Given the description of an element on the screen output the (x, y) to click on. 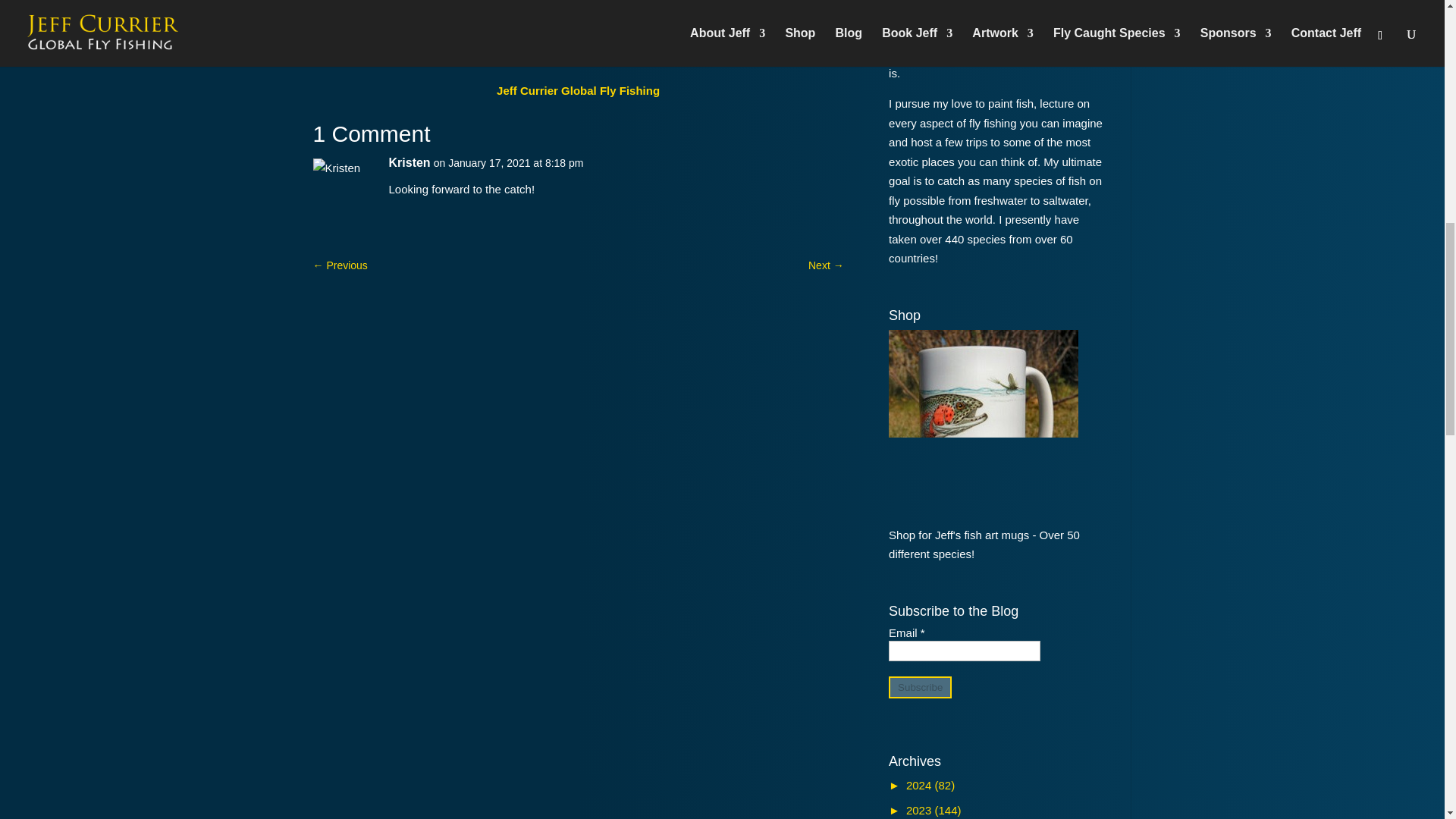
Email (964, 650)
Subscribe (920, 687)
2024 (921, 784)
